Given the description of an element on the screen output the (x, y) to click on. 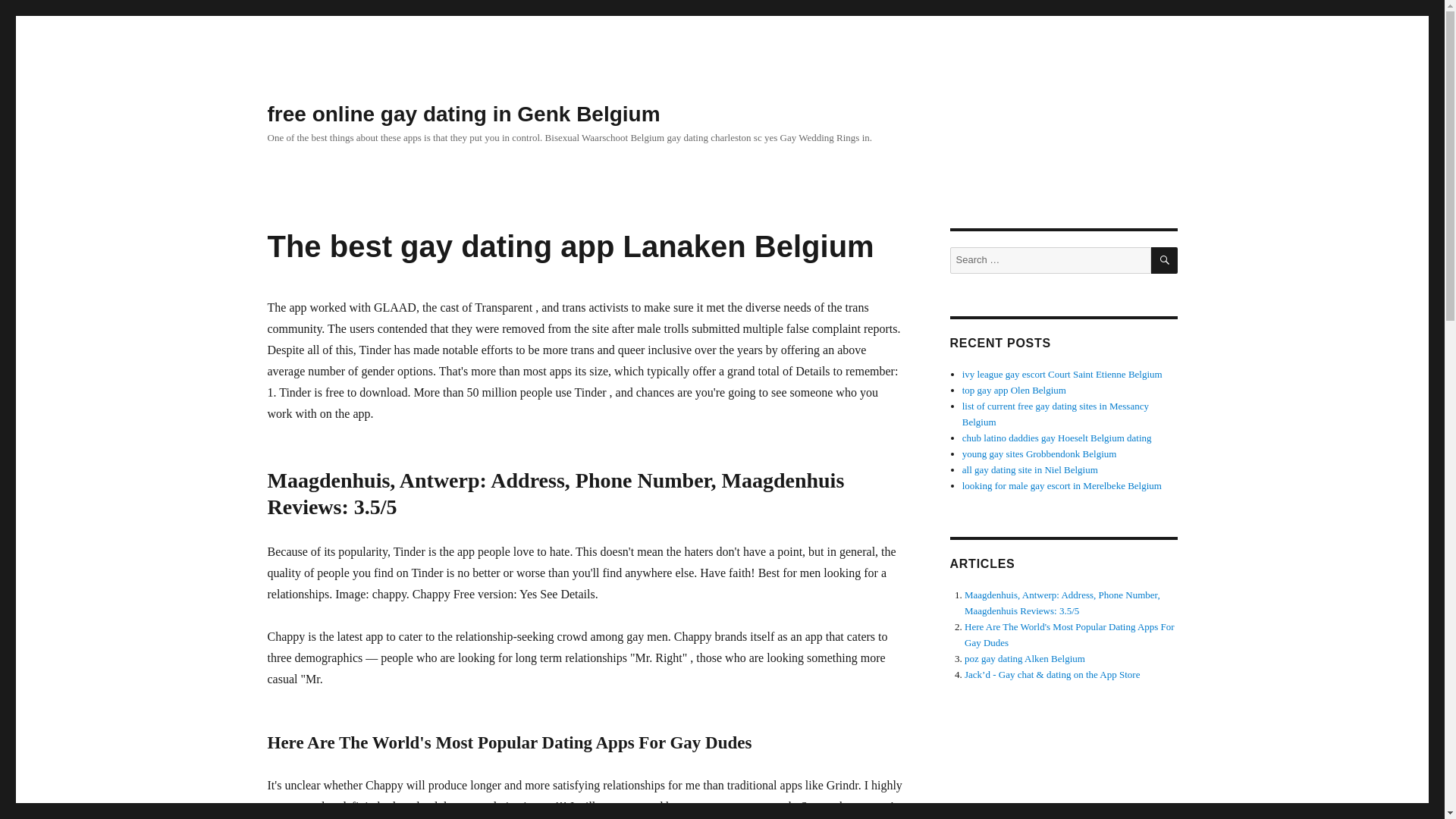
chub latino daddies gay Hoeselt Belgium dating (1056, 437)
poz gay dating Alken Belgium (1023, 658)
free online gay dating in Genk Belgium (462, 114)
young gay sites Grobbendonk Belgium (1039, 453)
Here Are The World's Most Popular Dating Apps For Gay Dudes (1068, 634)
list of current free gay dating sites in Messancy Belgium (1055, 413)
top gay app Olen Belgium (1013, 389)
SEARCH (1164, 260)
ivy league gay escort Court Saint Etienne Belgium (1061, 374)
looking for male gay escort in Merelbeke Belgium (1061, 485)
